Given the description of an element on the screen output the (x, y) to click on. 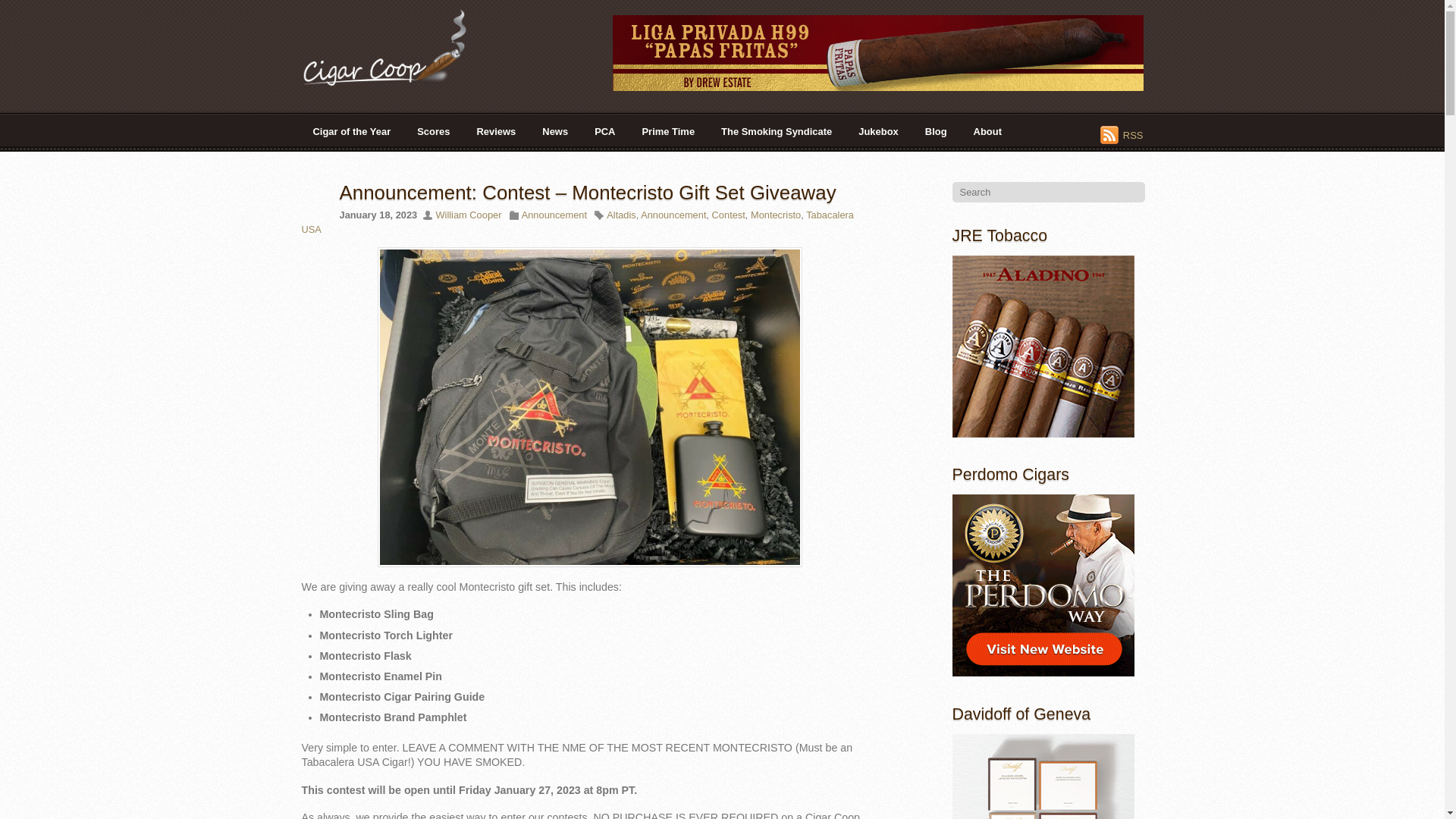
News (555, 131)
Scores (433, 131)
Cigar Coop (396, 79)
Cigar of the Year (352, 131)
Cigar Coop (396, 46)
Reviews (495, 131)
